Given the description of an element on the screen output the (x, y) to click on. 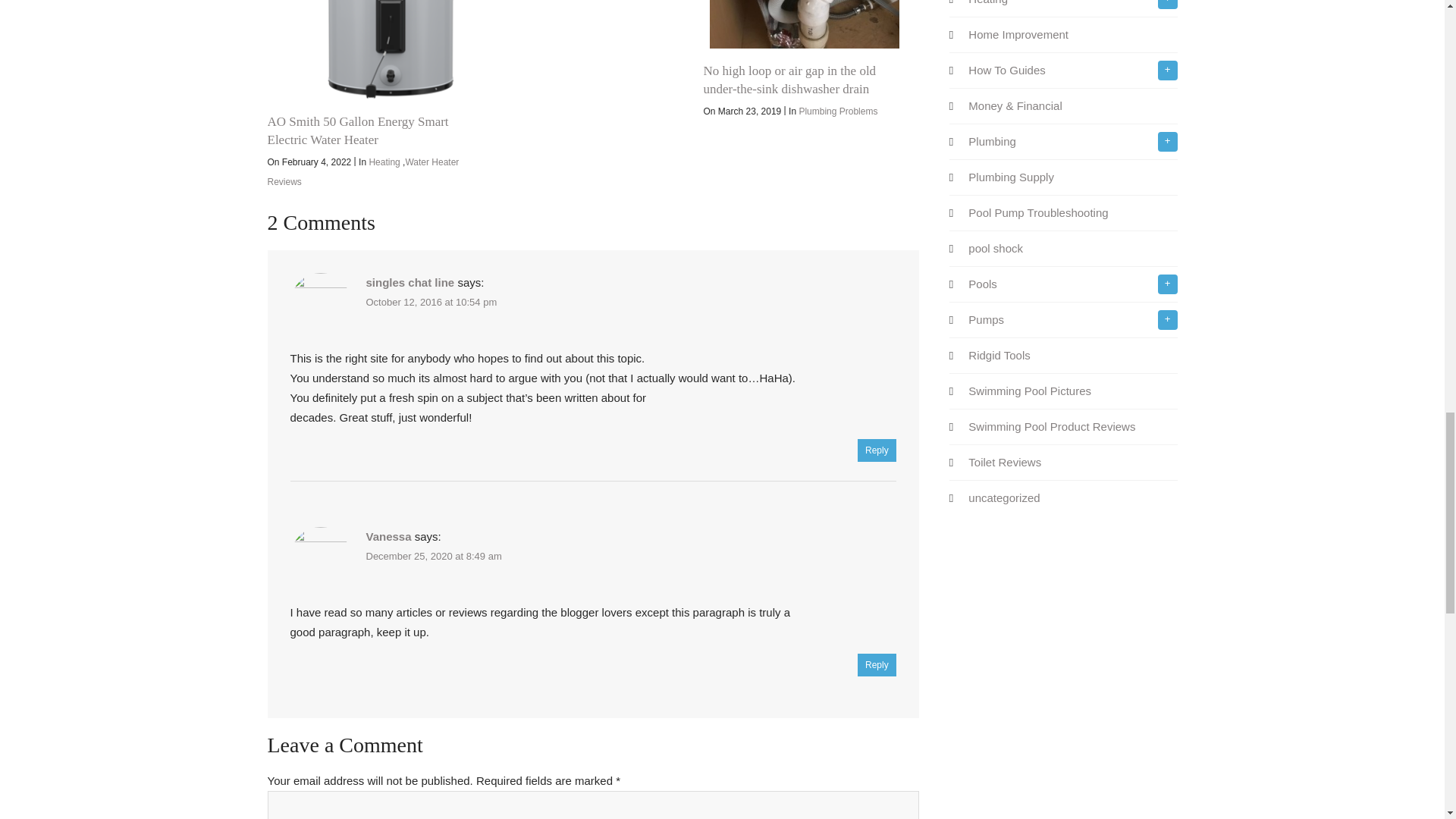
AO Smith 50 Gallon Energy Smart Electric Water Heater (357, 130)
Plumbing Problems (837, 111)
Vanessa (387, 535)
Water Heater Reviews (362, 172)
Heating (383, 162)
singles chat line (409, 282)
Reply (876, 449)
Reply (876, 664)
October 12, 2016 at 10:54 pm (430, 301)
December 25, 2020 at 8:49 am (432, 555)
AO Smith 50 Gallon Energy Smart Electric Water Heater (368, 49)
